Given the description of an element on the screen output the (x, y) to click on. 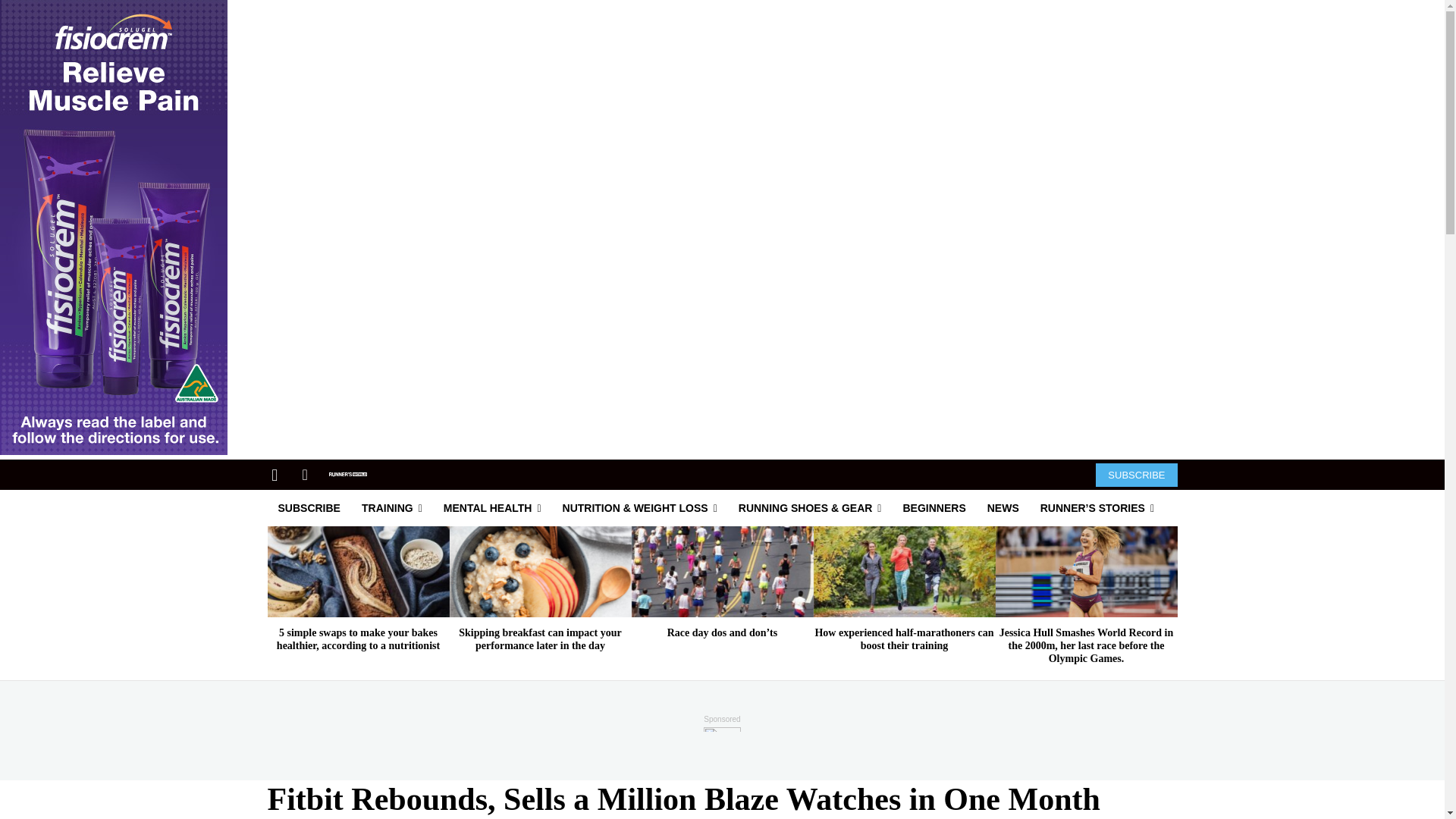
SUBSCRIBE (1136, 474)
